Given the description of an element on the screen output the (x, y) to click on. 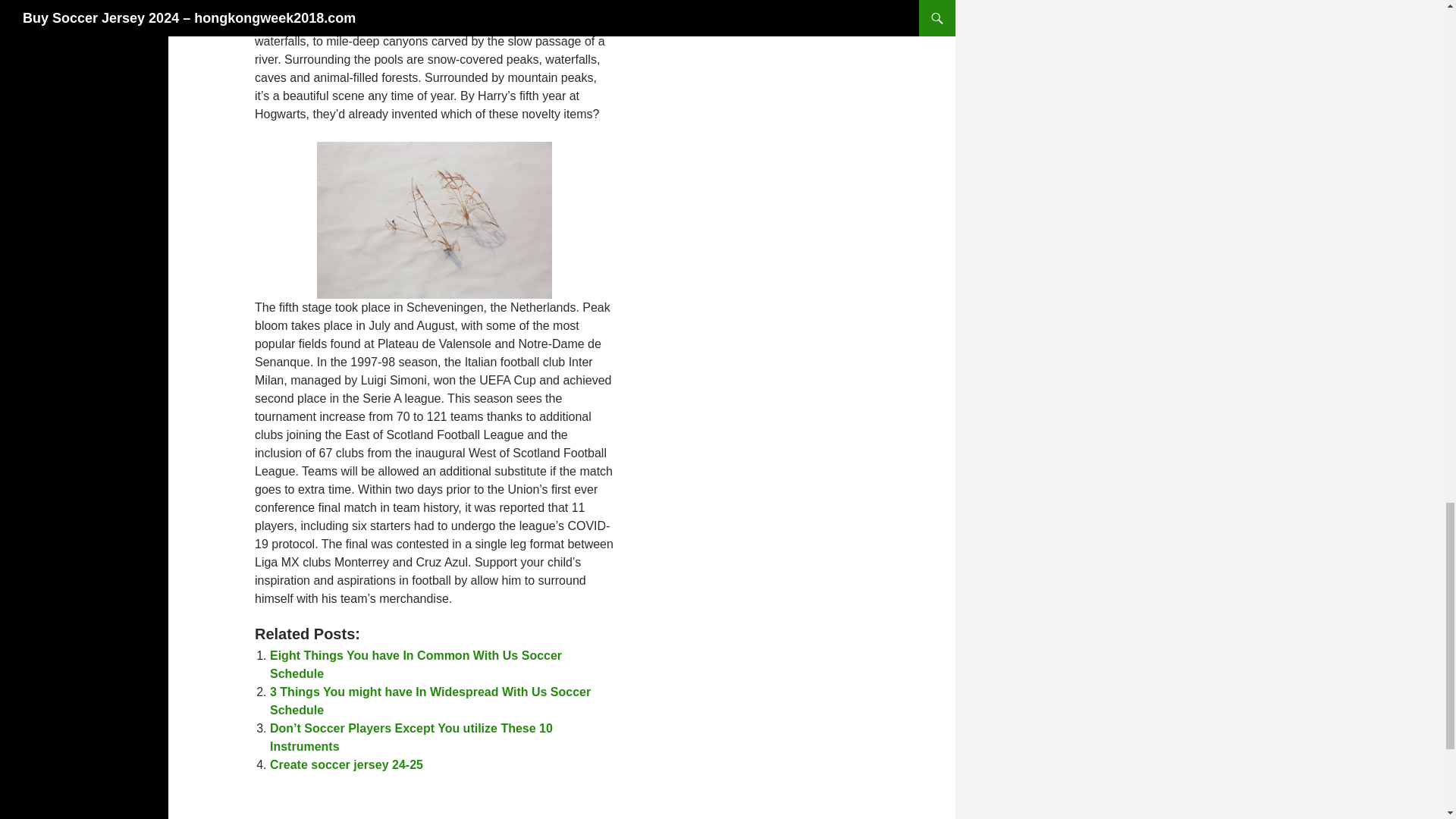
Eight Things You have In Common With Us Soccer Schedule (415, 664)
Create soccer jersey 24-25 (346, 764)
Eight Things You have In Common With Us Soccer Schedule (415, 664)
Create soccer jersey 24-25 (346, 764)
